Given the description of an element on the screen output the (x, y) to click on. 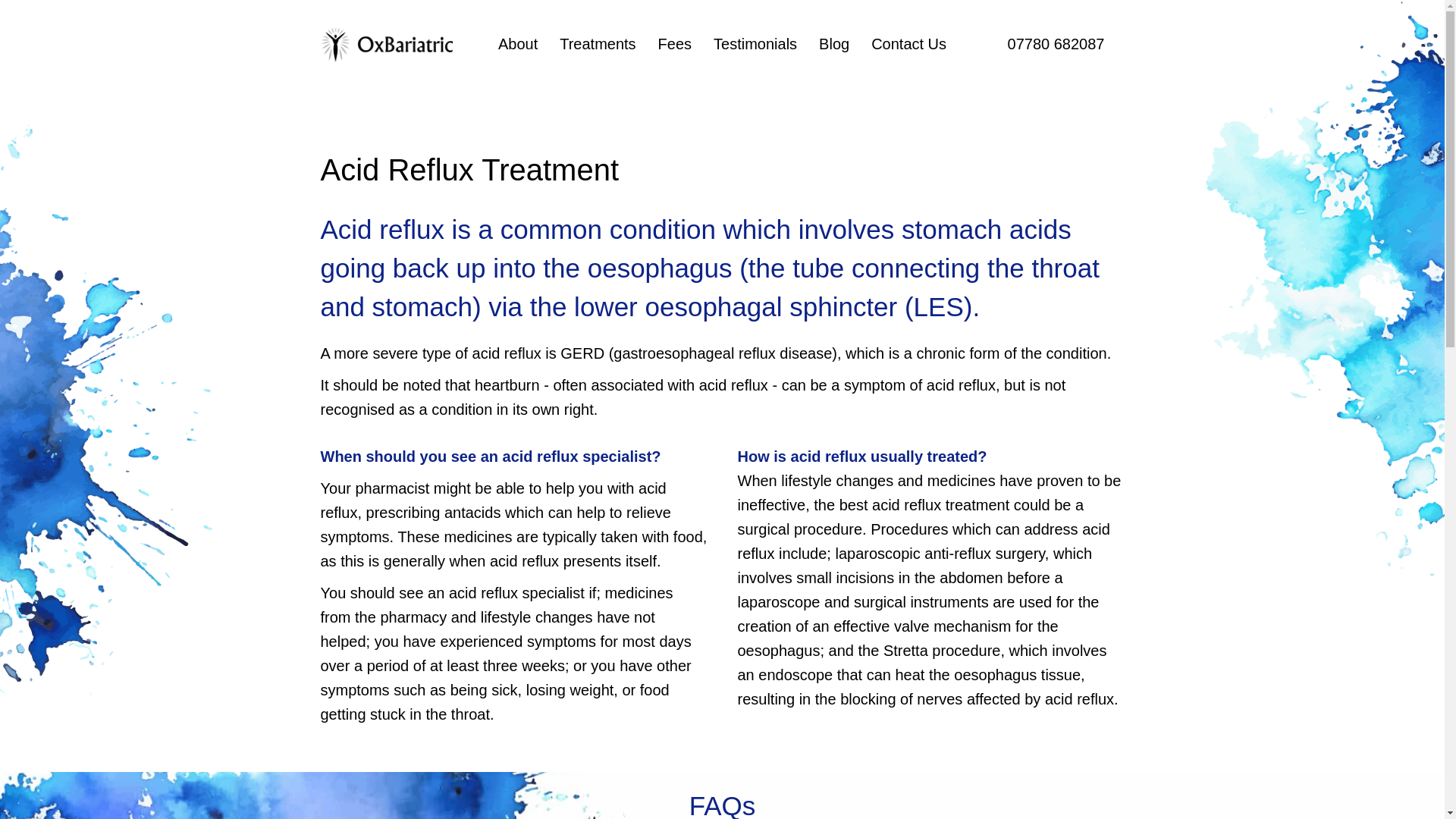
About (517, 44)
Logo (388, 44)
Treatments (597, 44)
